Given the description of an element on the screen output the (x, y) to click on. 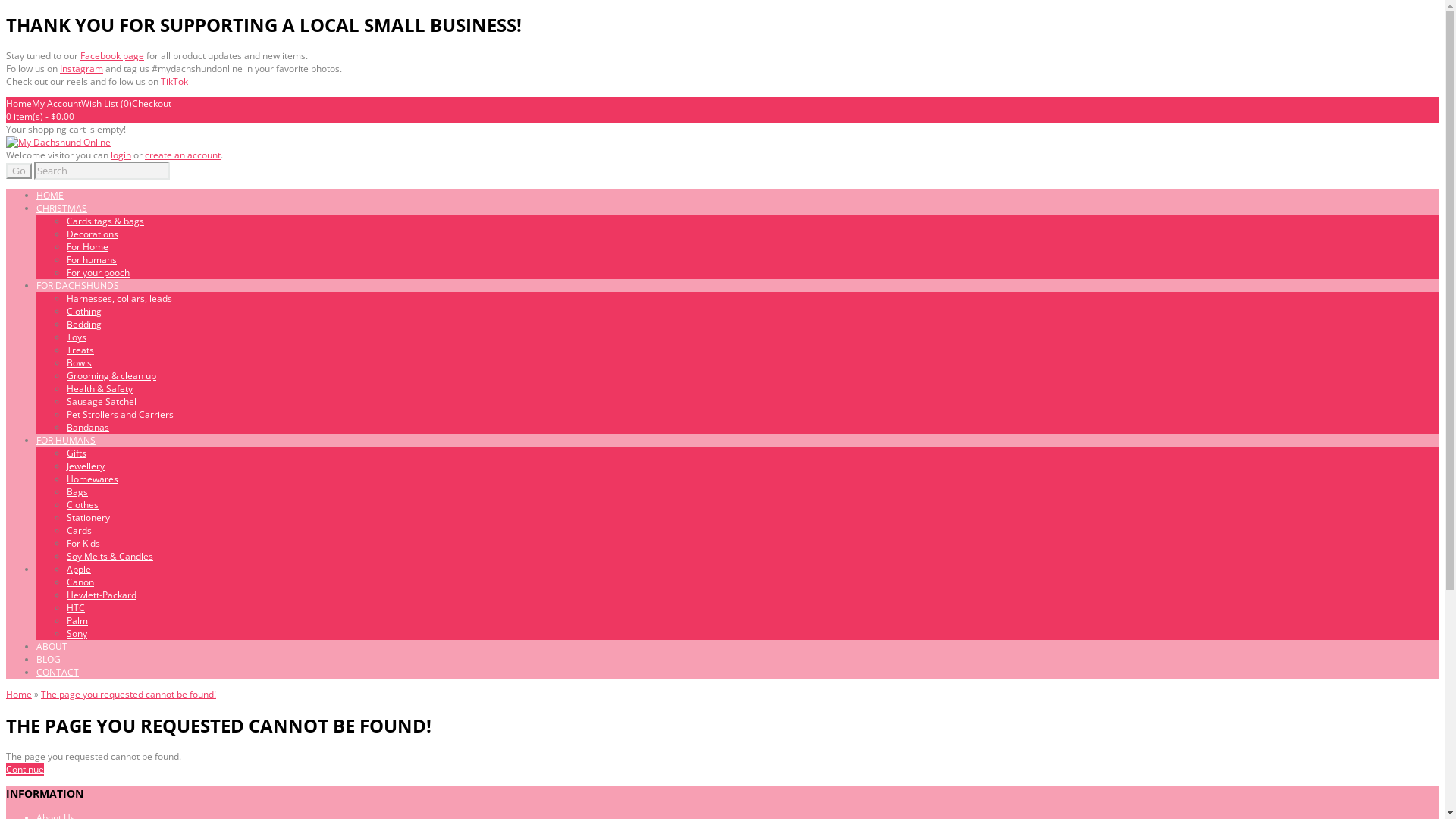
Toys Element type: text (76, 336)
Bags Element type: text (76, 491)
Go Element type: text (18, 170)
Hewlett-Packard Element type: text (101, 594)
Facebook page Element type: text (112, 55)
ABOUT Element type: text (51, 646)
Pet Strollers and Carriers Element type: text (119, 413)
Health & Safety Element type: text (99, 388)
Instagram Element type: text (81, 68)
Harnesses, collars, leads Element type: text (119, 297)
Decorations Element type: text (92, 233)
Homewares Element type: text (92, 478)
Apple Element type: text (78, 568)
Clothes Element type: text (82, 504)
Home Element type: text (18, 103)
For your pooch Element type: text (97, 272)
Palm Element type: text (76, 620)
FOR DACHSHUNDS Element type: text (77, 285)
FOR HUMANS Element type: text (65, 439)
Sony Element type: text (76, 633)
Bedding Element type: text (83, 323)
My Account Element type: text (56, 103)
For Kids Element type: text (83, 542)
Stationery Element type: text (87, 517)
TikTok Element type: text (174, 81)
HTC Element type: text (75, 607)
Jewellery Element type: text (85, 465)
Cards Element type: text (78, 530)
Search Element type: text (101, 170)
CONTACT Element type: text (57, 671)
Bowls Element type: text (78, 362)
Sausage Satchel Element type: text (101, 401)
login Element type: text (120, 154)
Continue Element type: text (24, 768)
Checkout Element type: text (151, 103)
For humans Element type: text (91, 259)
Soy Melts & Candles Element type: text (109, 555)
My Dachshund Online Element type: hover (58, 141)
Canon Element type: text (80, 581)
Home Element type: text (18, 693)
Wish List (0) Element type: text (106, 103)
Gifts Element type: text (76, 452)
Grooming & clean up Element type: text (111, 375)
HOME Element type: text (49, 194)
CHRISTMAS Element type: text (61, 207)
BLOG Element type: text (48, 658)
Treats Element type: text (80, 349)
create an account Element type: text (182, 154)
The page you requested cannot be found! Element type: text (128, 693)
For Home Element type: text (87, 246)
Cards tags & bags Element type: text (105, 220)
Bandanas Element type: text (87, 426)
Clothing Element type: text (83, 310)
0 item(s) - $0.00 Element type: text (40, 115)
